Given the description of an element on the screen output the (x, y) to click on. 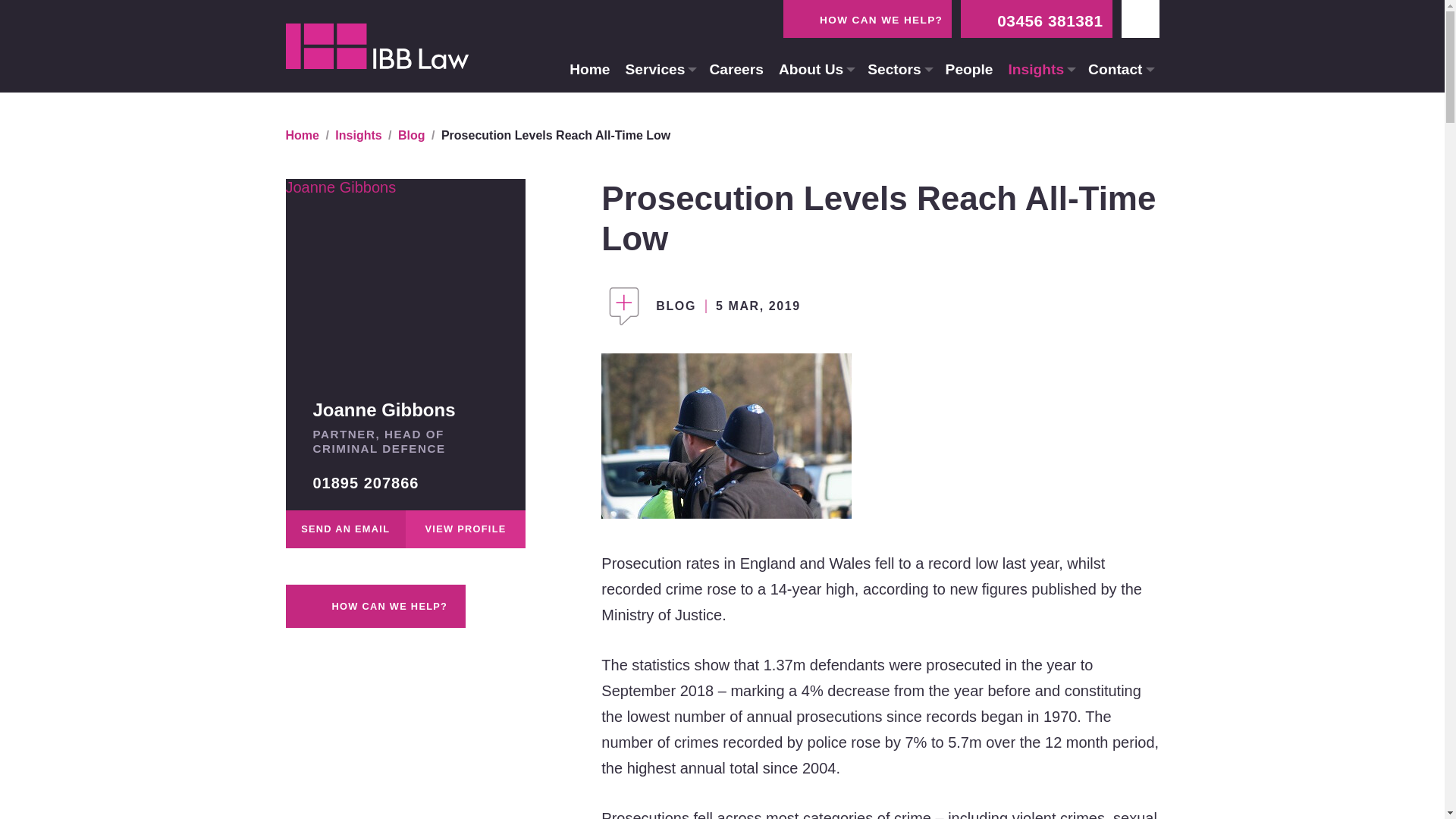
Search (1049, 46)
Home (589, 69)
TOGGLE SEARCH (1139, 18)
Services (659, 69)
Search the site (640, 46)
HOW CAN WE HELP? (867, 18)
03456 381381 (1036, 18)
